Given the description of an element on the screen output the (x, y) to click on. 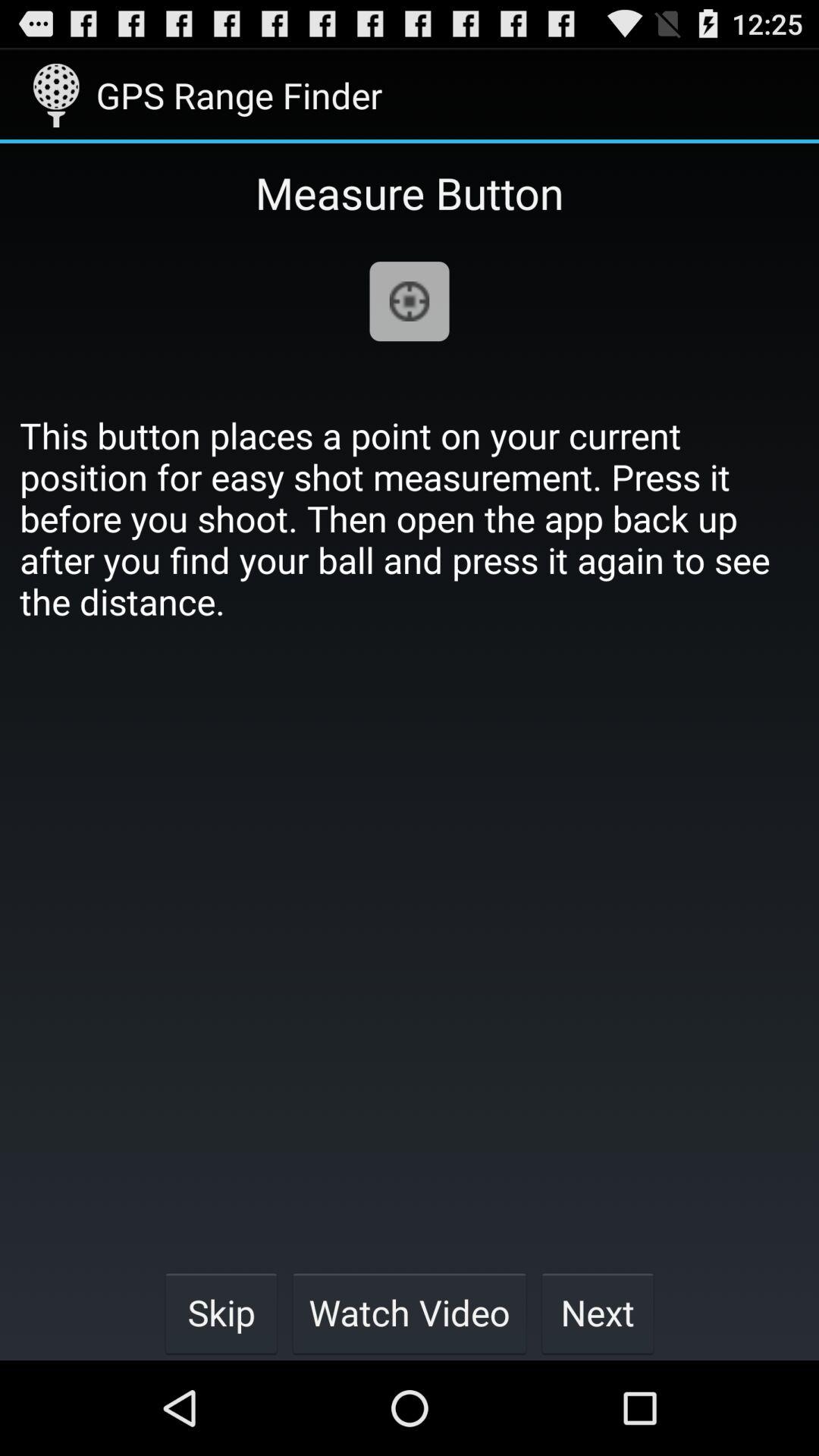
jump to the watch video (409, 1312)
